Given the description of an element on the screen output the (x, y) to click on. 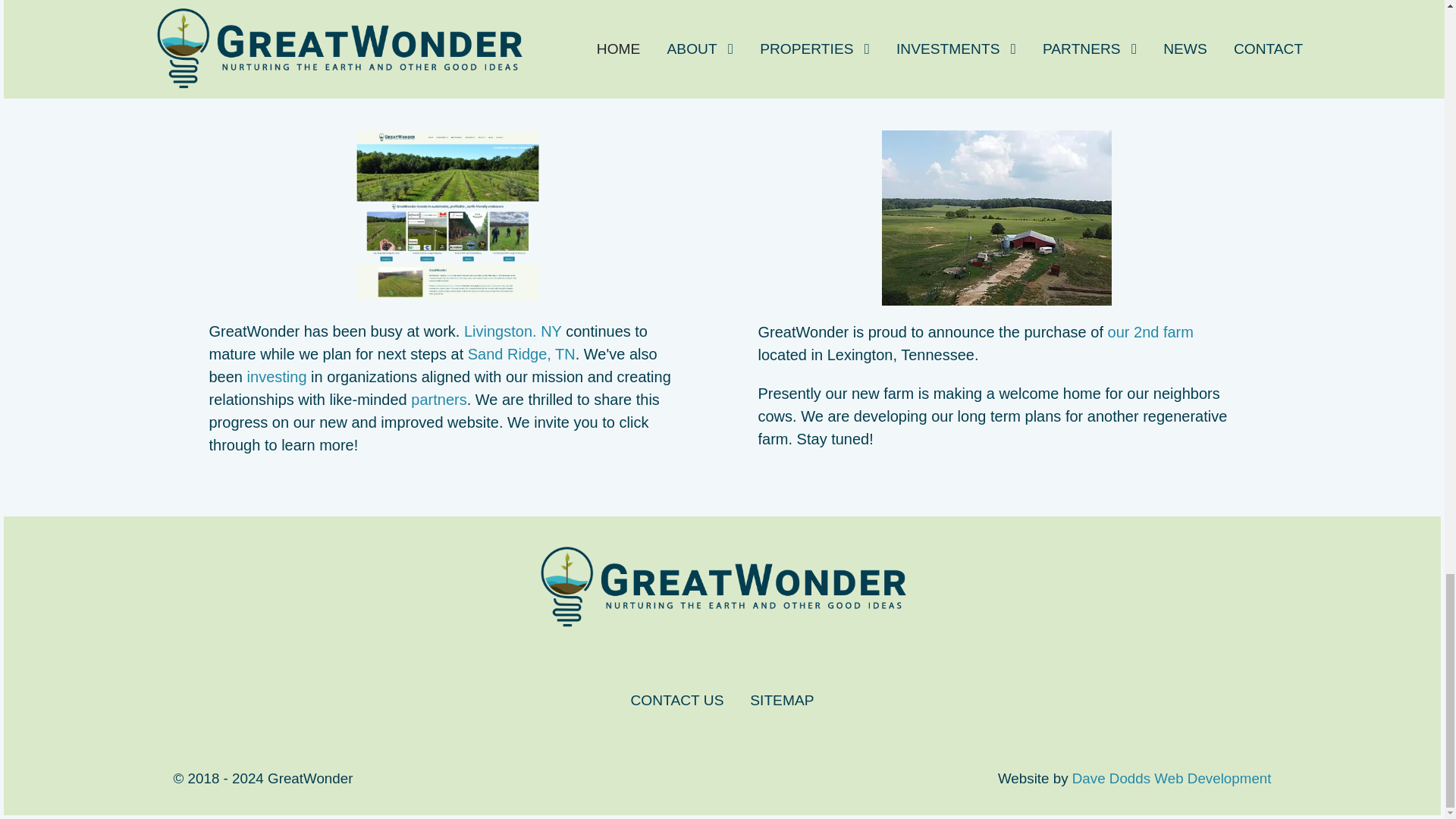
GreatWonder (721, 586)
